Given the description of an element on the screen output the (x, y) to click on. 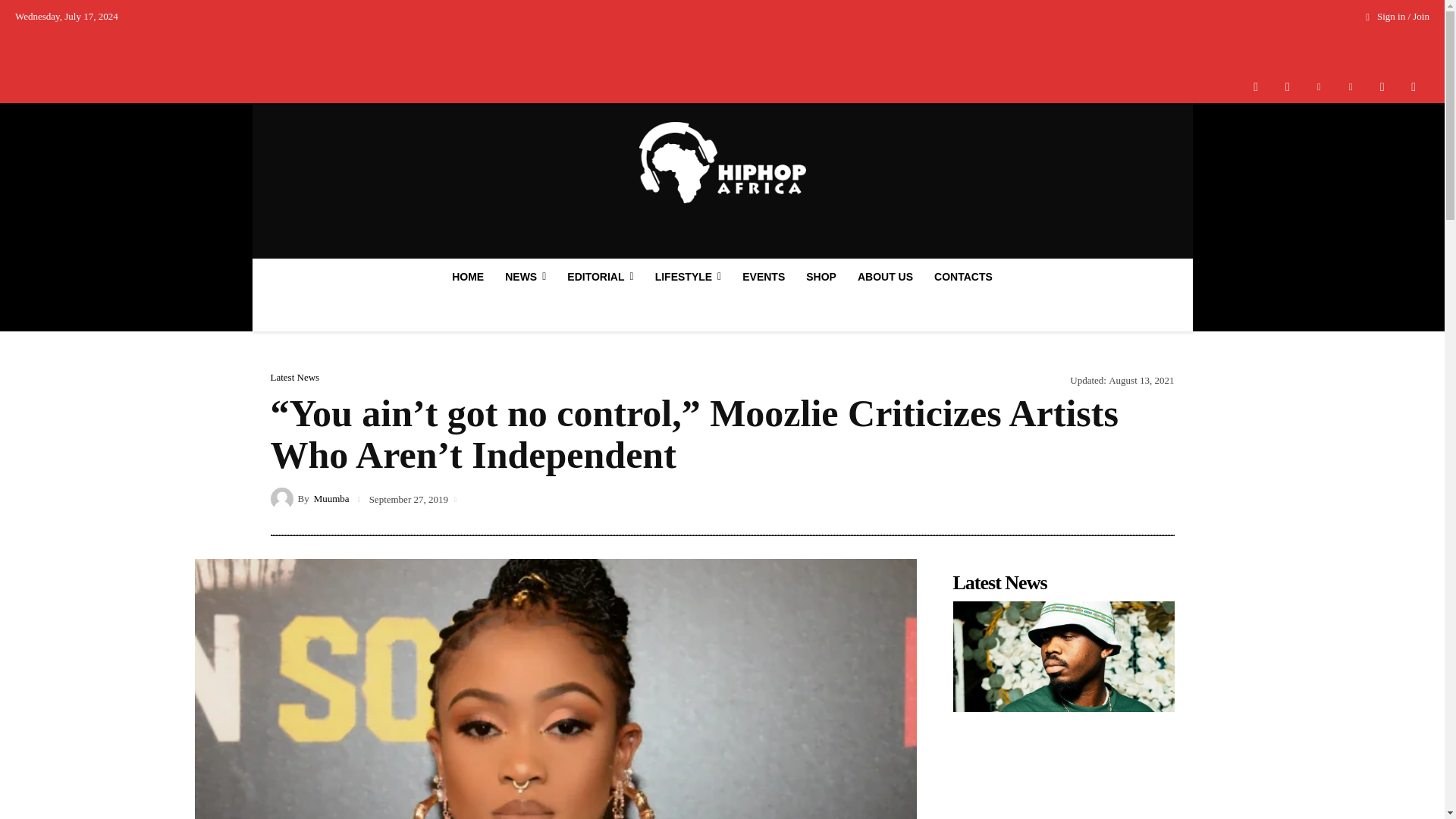
Instagram (1287, 87)
Youtube (1413, 87)
NEWS (525, 275)
Facebook (1255, 87)
Muumba (283, 497)
Twitter (1382, 87)
HOME (468, 275)
EDITORIAL (599, 275)
Linkedin (1319, 87)
Pinterest (1351, 87)
